Given the description of an element on the screen output the (x, y) to click on. 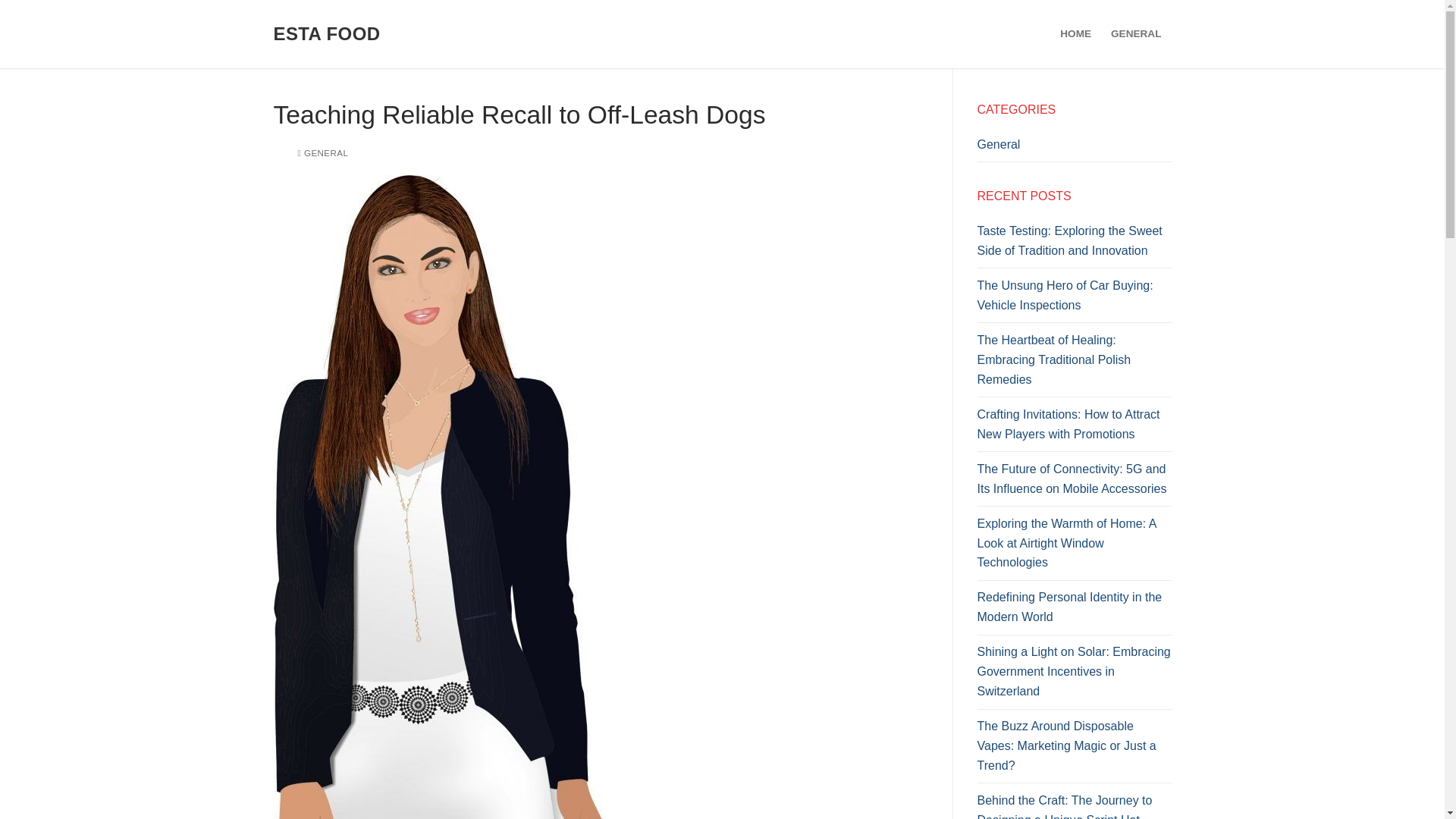
The Unsung Hero of Car Buying: Vehicle Inspections (1073, 299)
GENERAL (1135, 33)
GENERAL (322, 153)
Redefining Personal Identity in the Modern World (1073, 611)
